Given the description of an element on the screen output the (x, y) to click on. 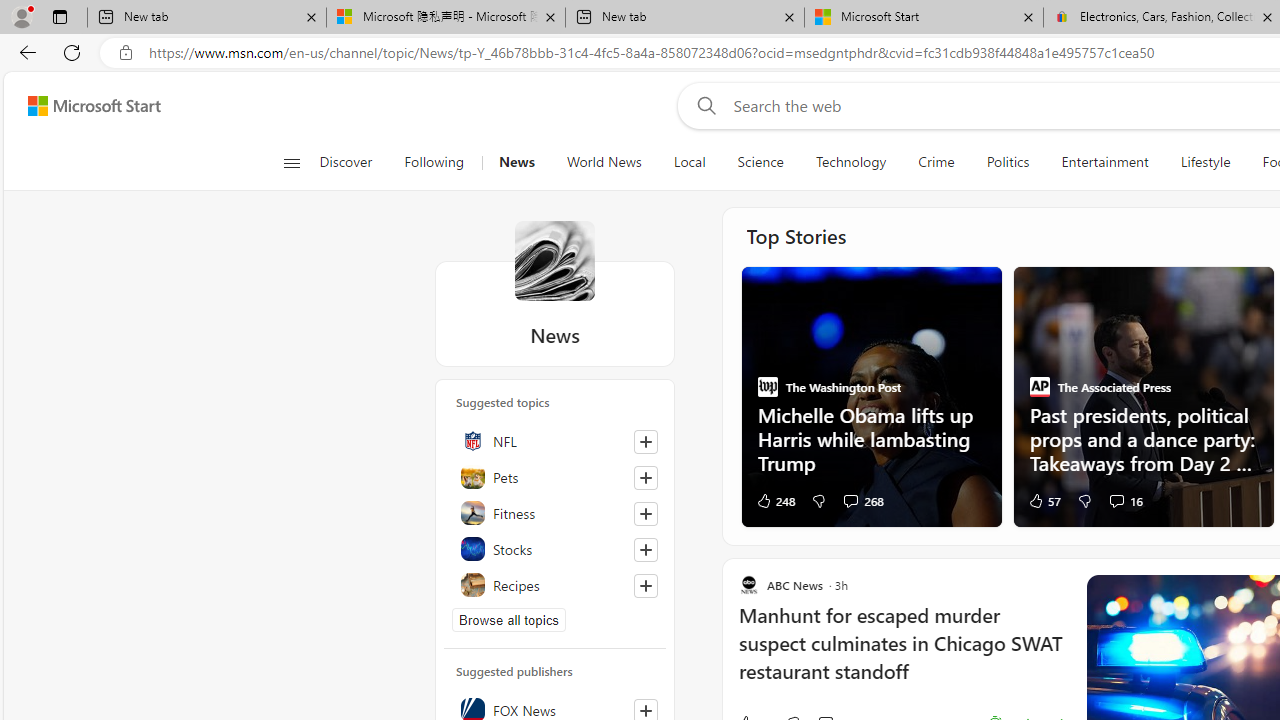
Web search (702, 105)
World News (603, 162)
Class: button-glyph (290, 162)
Fitness (555, 512)
Browse all topics (509, 619)
Follow this topic (645, 585)
View comments 268 Comment (850, 500)
Technology (850, 162)
Stocks (555, 548)
